Given the description of an element on the screen output the (x, y) to click on. 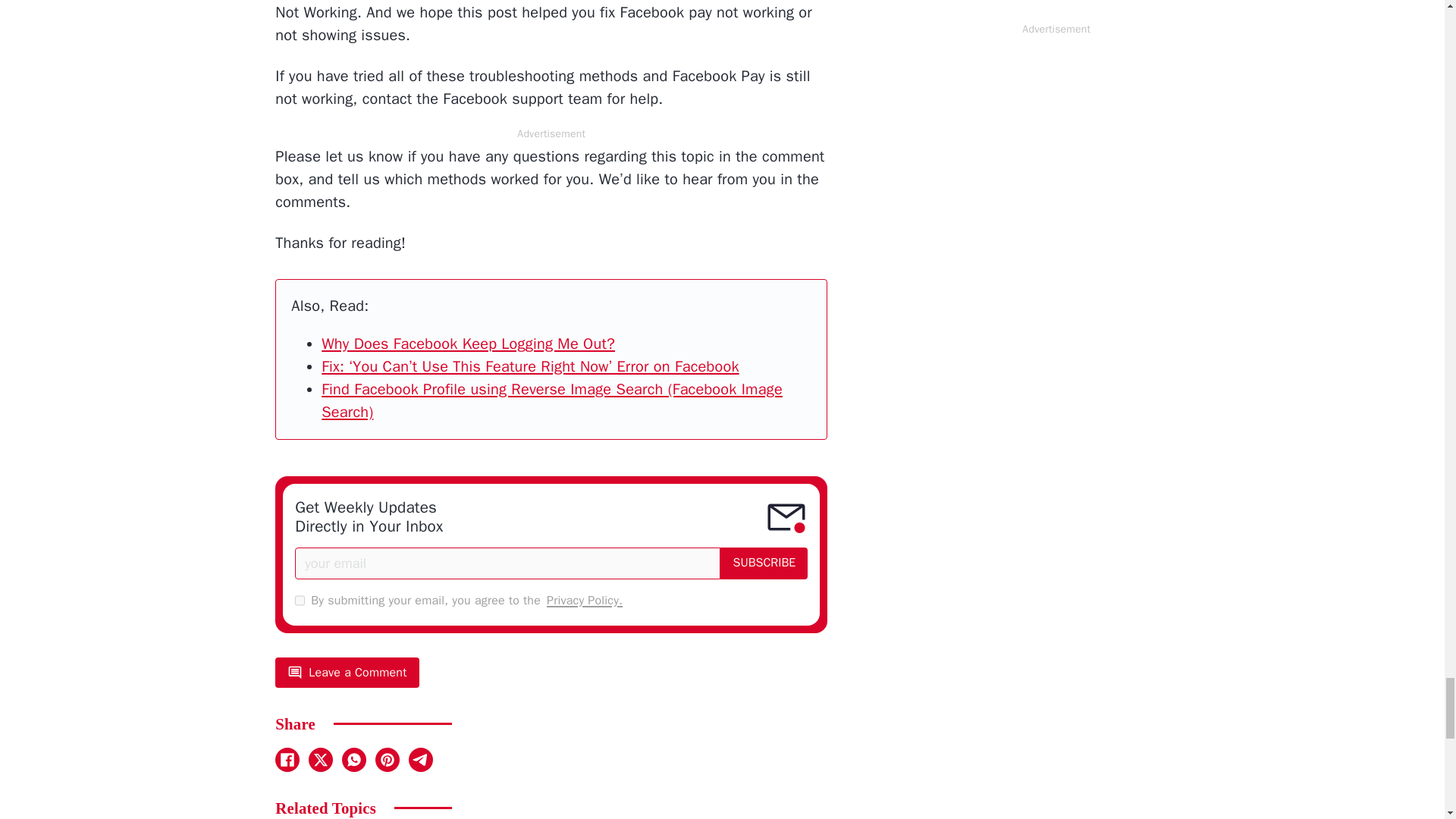
1 (299, 600)
